Given the description of an element on the screen output the (x, y) to click on. 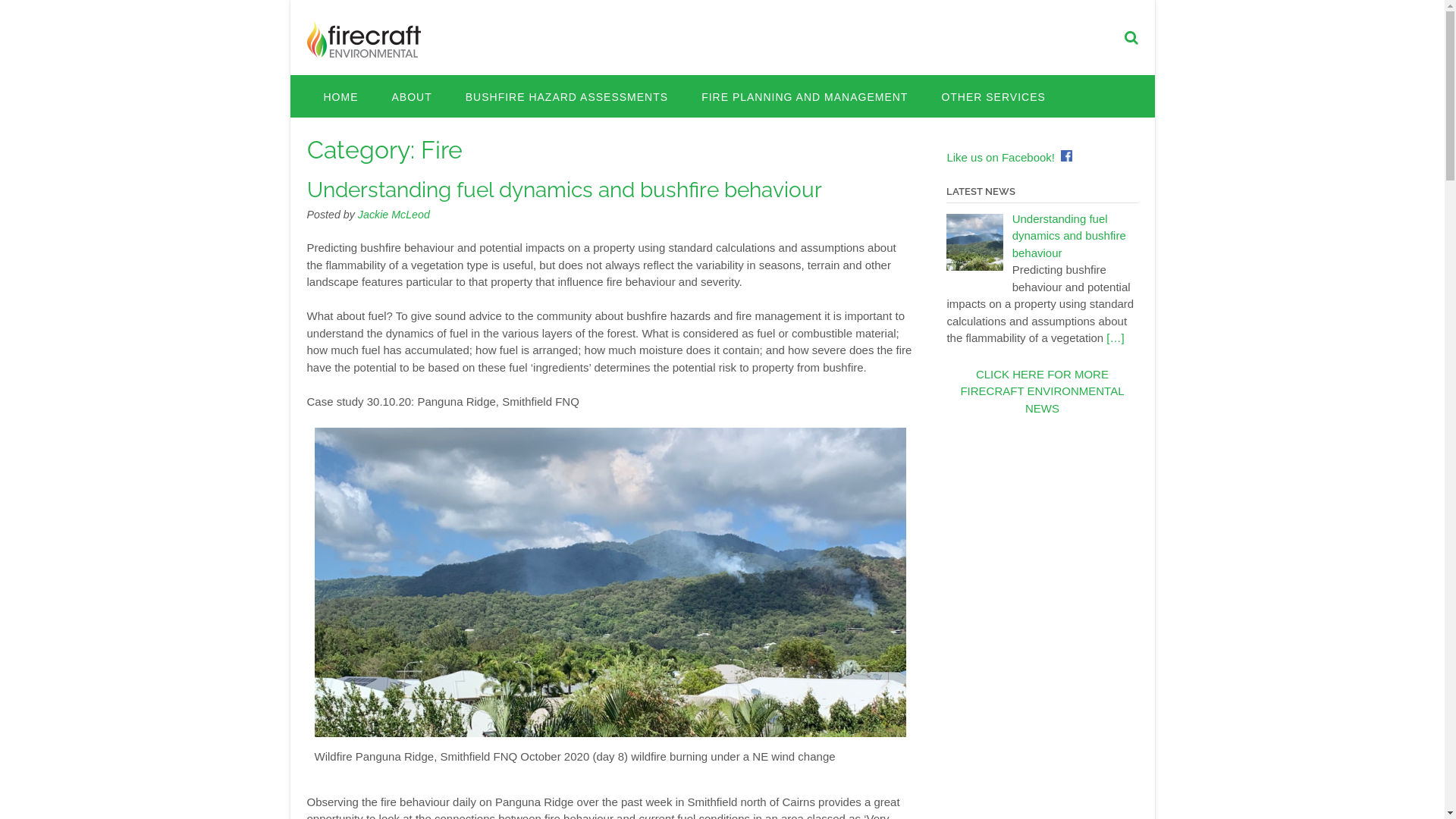
FIRE PLANNING AND MANAGEMENT Element type: text (804, 96)
Like us on Facebook! Element type: text (1000, 156)
OTHER SERVICES Element type: text (992, 96)
Understanding fuel dynamics and bushfire behaviour Element type: text (563, 189)
ABOUT Element type: text (411, 96)
Firecraft Environmental Element type: hover (363, 38)
Understanding fuel dynamics and bushfire behaviour Element type: text (1069, 235)
CLICK HERE FOR MORE
FIRECRAFT ENVIRONMENTAL NEWS Element type: text (1041, 391)
Jackie McLeod Element type: text (393, 213)
Search our website Element type: hover (1130, 37)
HOME Element type: text (340, 96)
BUSHFIRE HAZARD ASSESSMENTS Element type: text (566, 96)
